Given the description of an element on the screen output the (x, y) to click on. 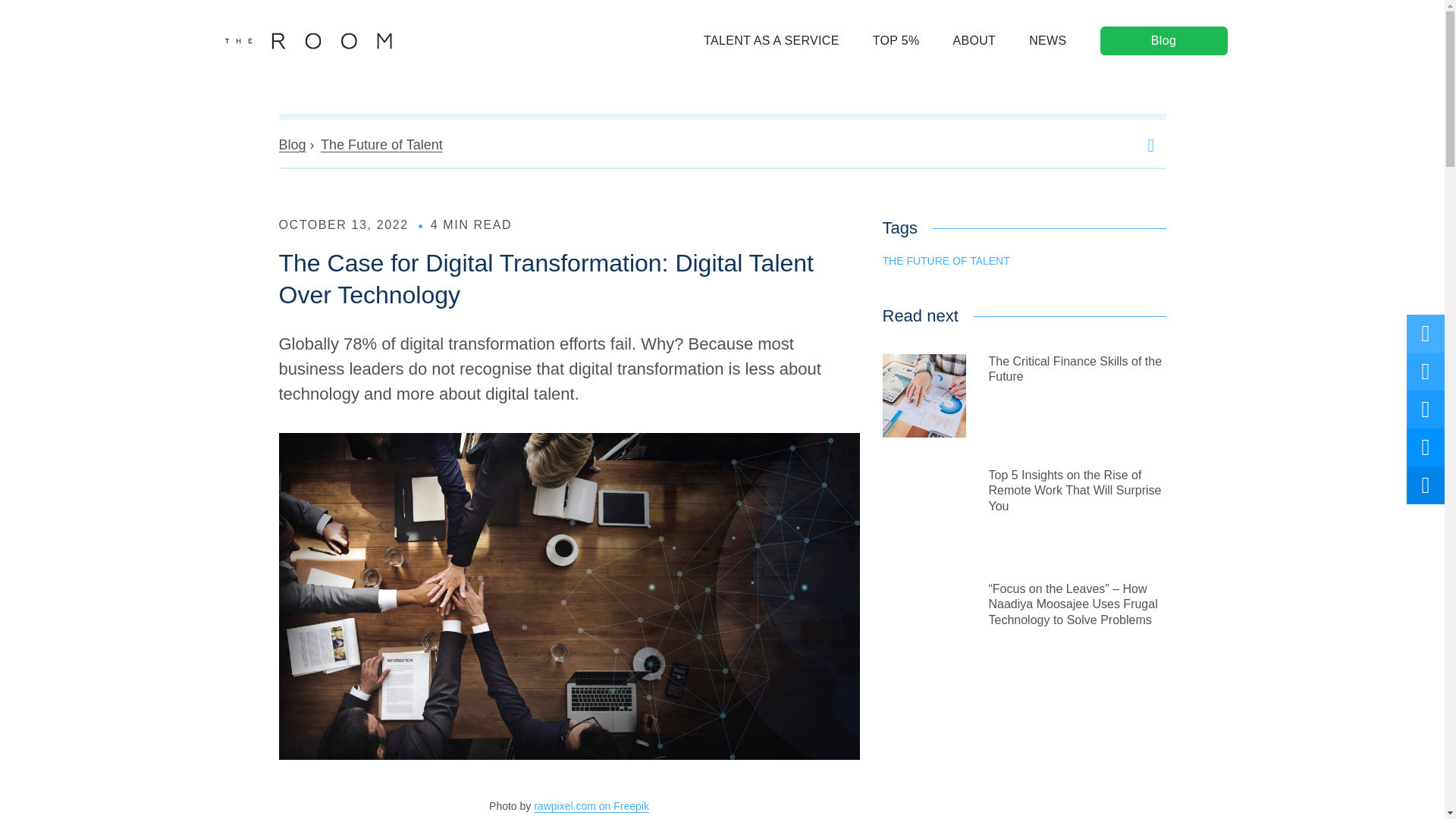
The Critical Finance Skills of the Future (1024, 395)
Blog (1163, 40)
THE FUTURE OF TALENT (946, 260)
ABOUT (973, 40)
The Room (307, 40)
Blog (292, 144)
rawpixel.com on Freepik (591, 806)
The Future of Talent (381, 144)
TALENT AS A SERVICE (771, 40)
